Given the description of an element on the screen output the (x, y) to click on. 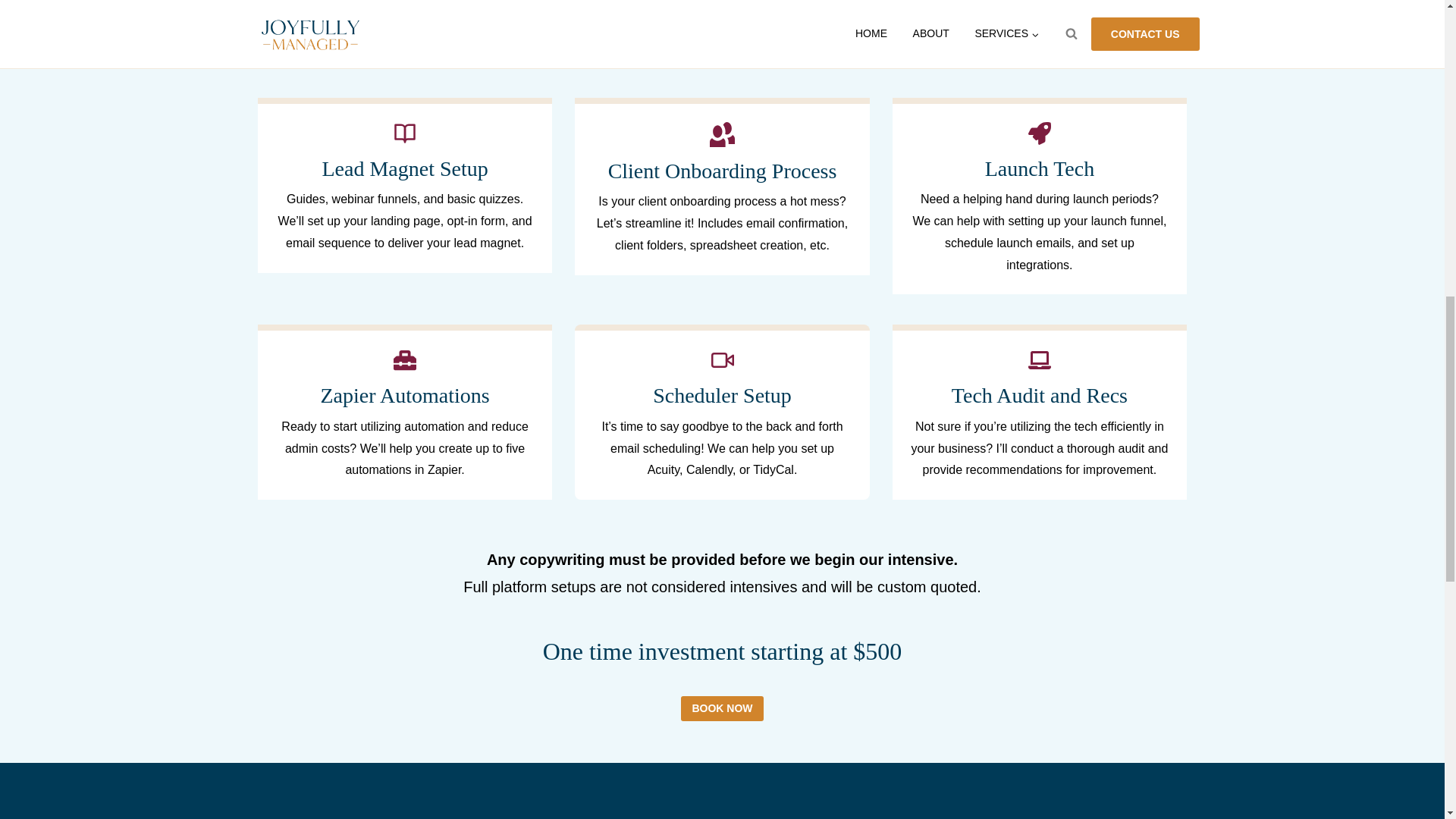
BOOK NOW (721, 708)
